Given the description of an element on the screen output the (x, y) to click on. 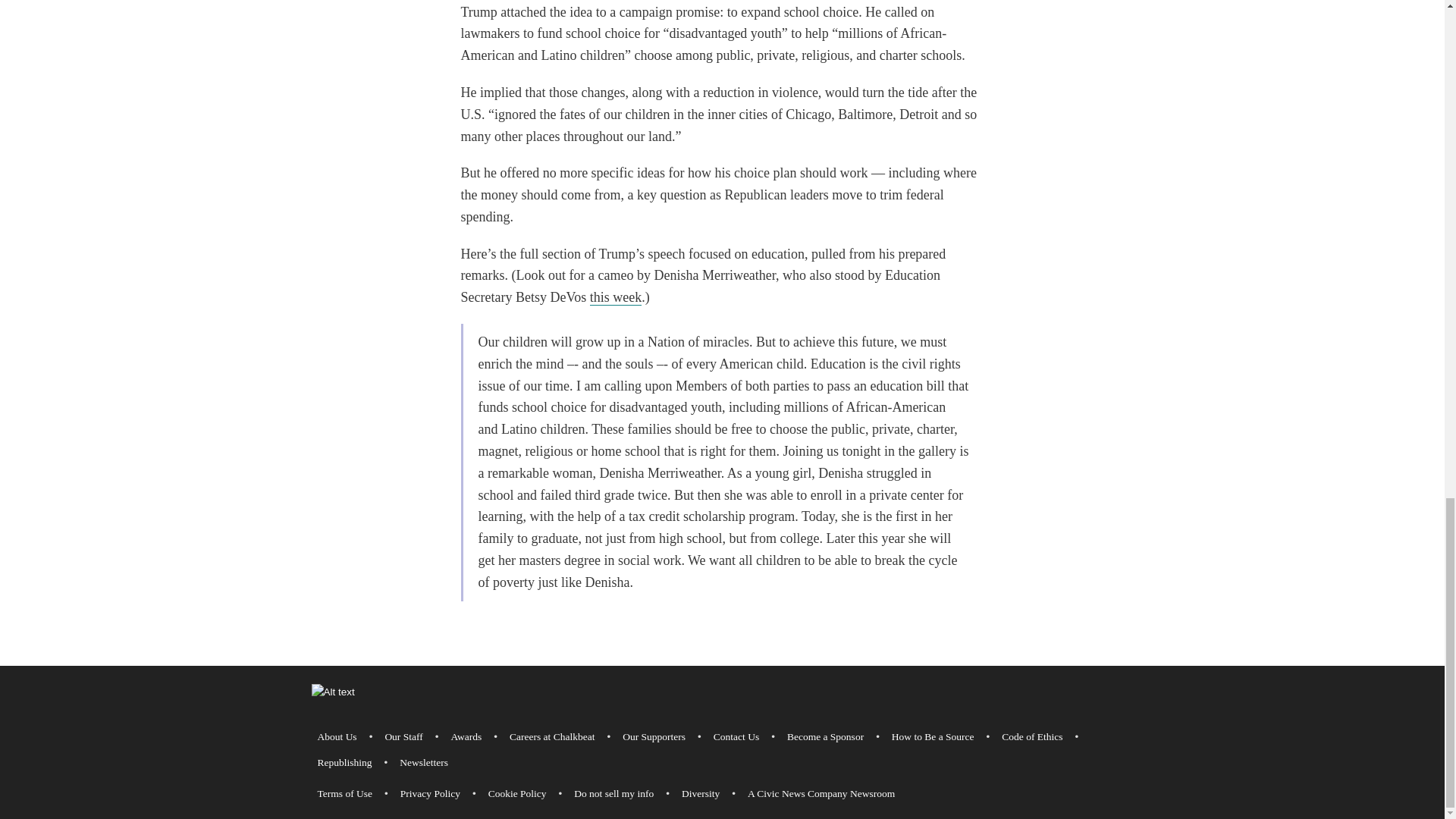
Our Staff (403, 736)
About Us (336, 736)
Newsletters (423, 762)
Terms of Use (344, 793)
Cookie Policy (517, 793)
Become a Sponsor (824, 736)
A Civic News Company Newsroom (821, 793)
Careers at Chalkbeat (551, 736)
Do not sell my info (613, 793)
Diversity (700, 793)
